Given the description of an element on the screen output the (x, y) to click on. 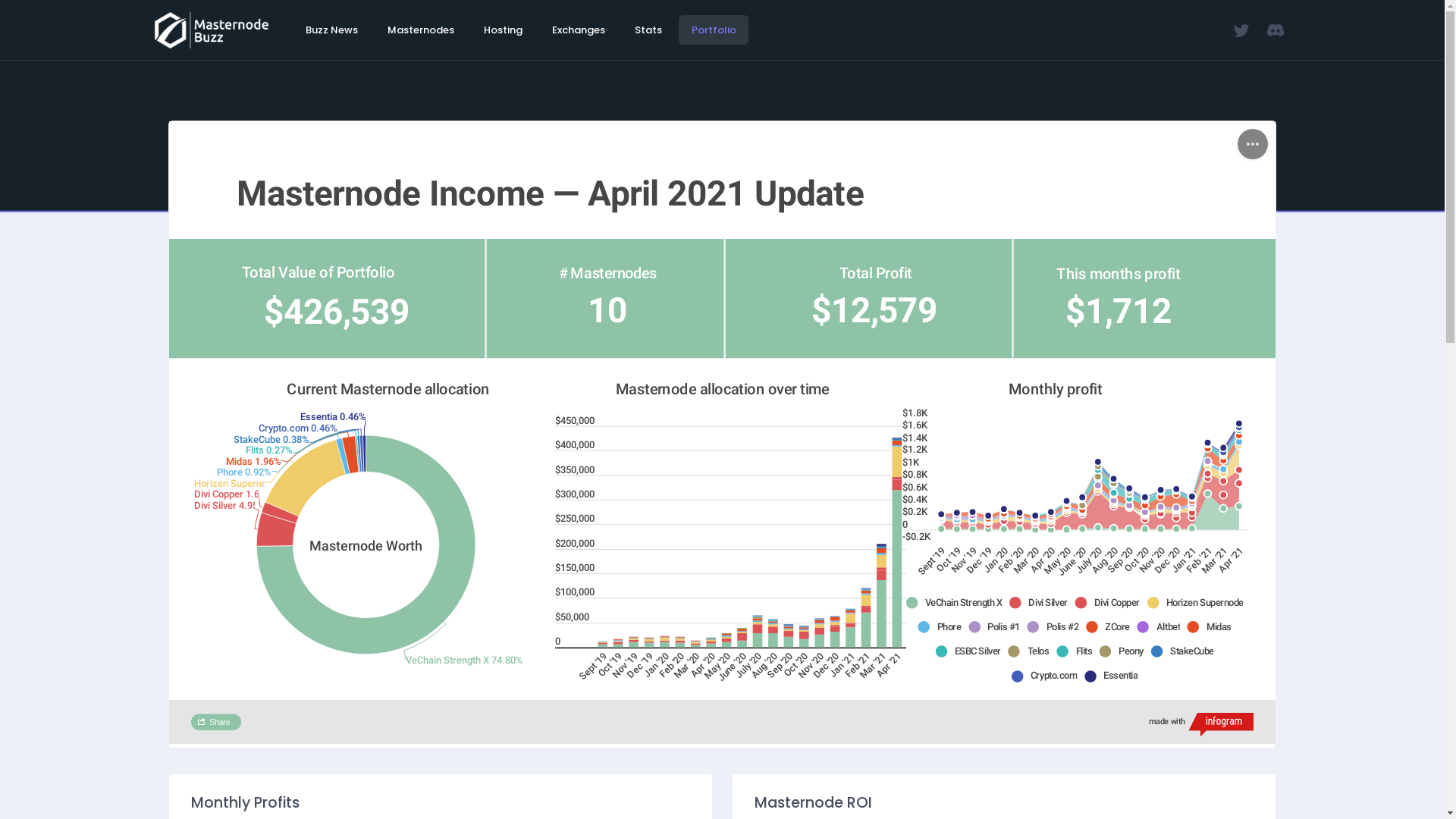
Masternodes Element type: text (420, 29)
Buzz News Element type: text (331, 29)
Buzz Element type: hover (722, 432)
Portfolio Element type: text (713, 29)
Hosting Element type: text (502, 29)
Stats Element type: text (647, 29)
Exchanges Element type: text (578, 29)
